Given the description of an element on the screen output the (x, y) to click on. 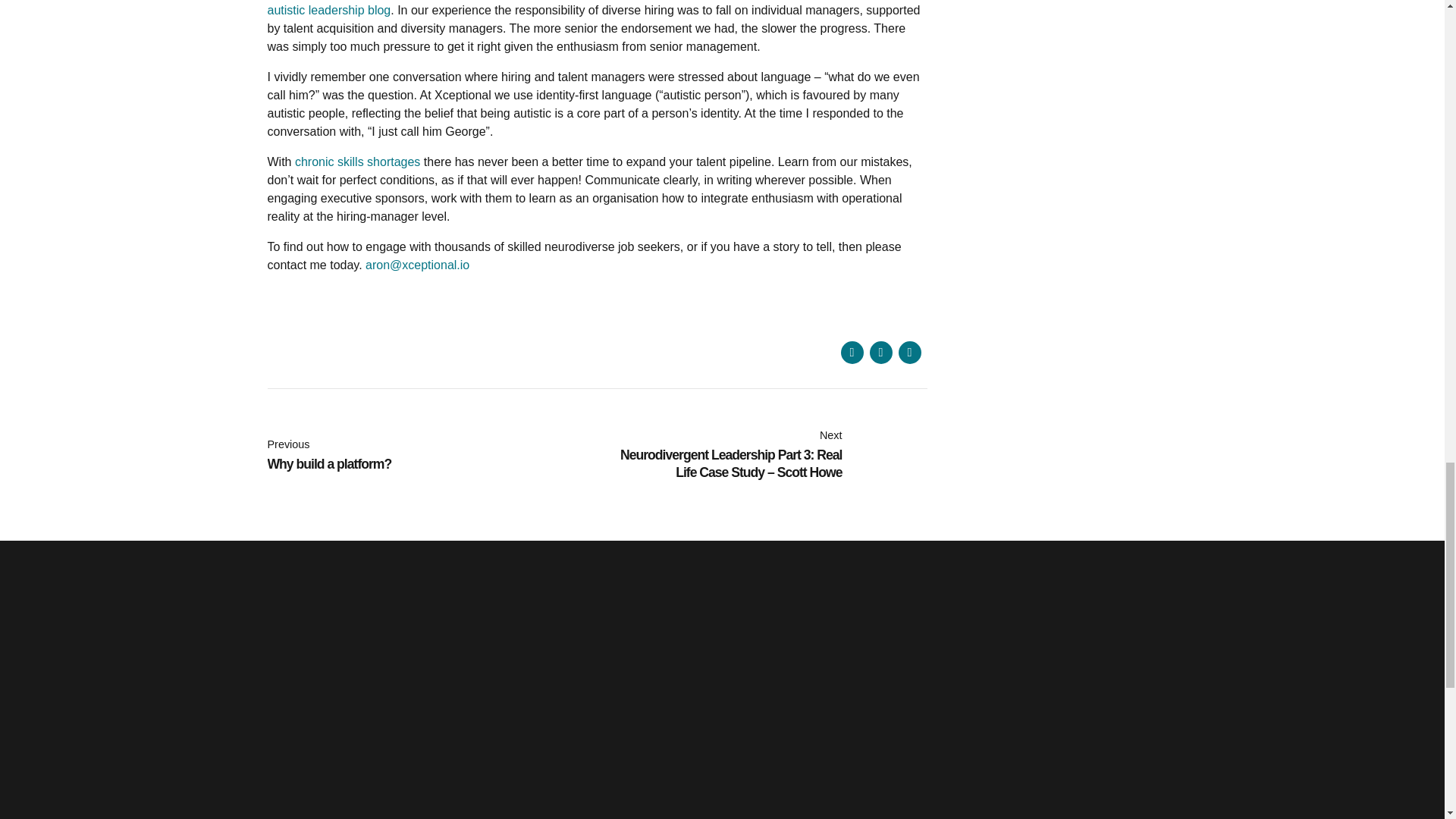
chronic skills shortages (357, 161)
Share on Linkedin (909, 352)
Share on Twitter (880, 352)
Share on Facebook (431, 455)
autistic leadership blog (851, 352)
